Given the description of an element on the screen output the (x, y) to click on. 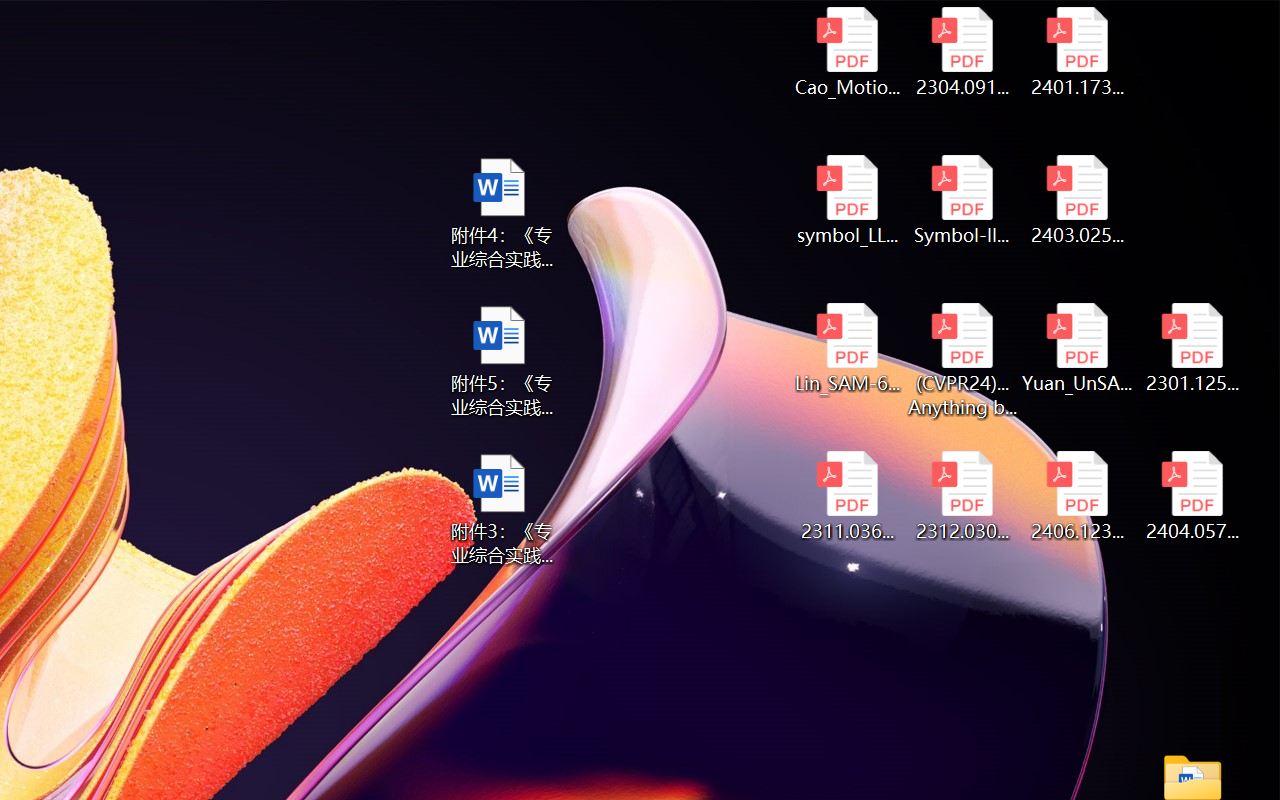
symbol_LLM.pdf (846, 200)
2406.12373v2.pdf (1077, 496)
2404.05719v1.pdf (1192, 496)
Symbol-llm-v2.pdf (962, 200)
2312.03032v2.pdf (962, 496)
2403.02502v1.pdf (1077, 200)
2301.12597v3.pdf (1192, 348)
(CVPR24)Matching Anything by Segmenting Anything.pdf (962, 360)
2311.03658v2.pdf (846, 496)
2304.09121v3.pdf (962, 52)
2401.17399v1.pdf (1077, 52)
